Given the description of an element on the screen output the (x, y) to click on. 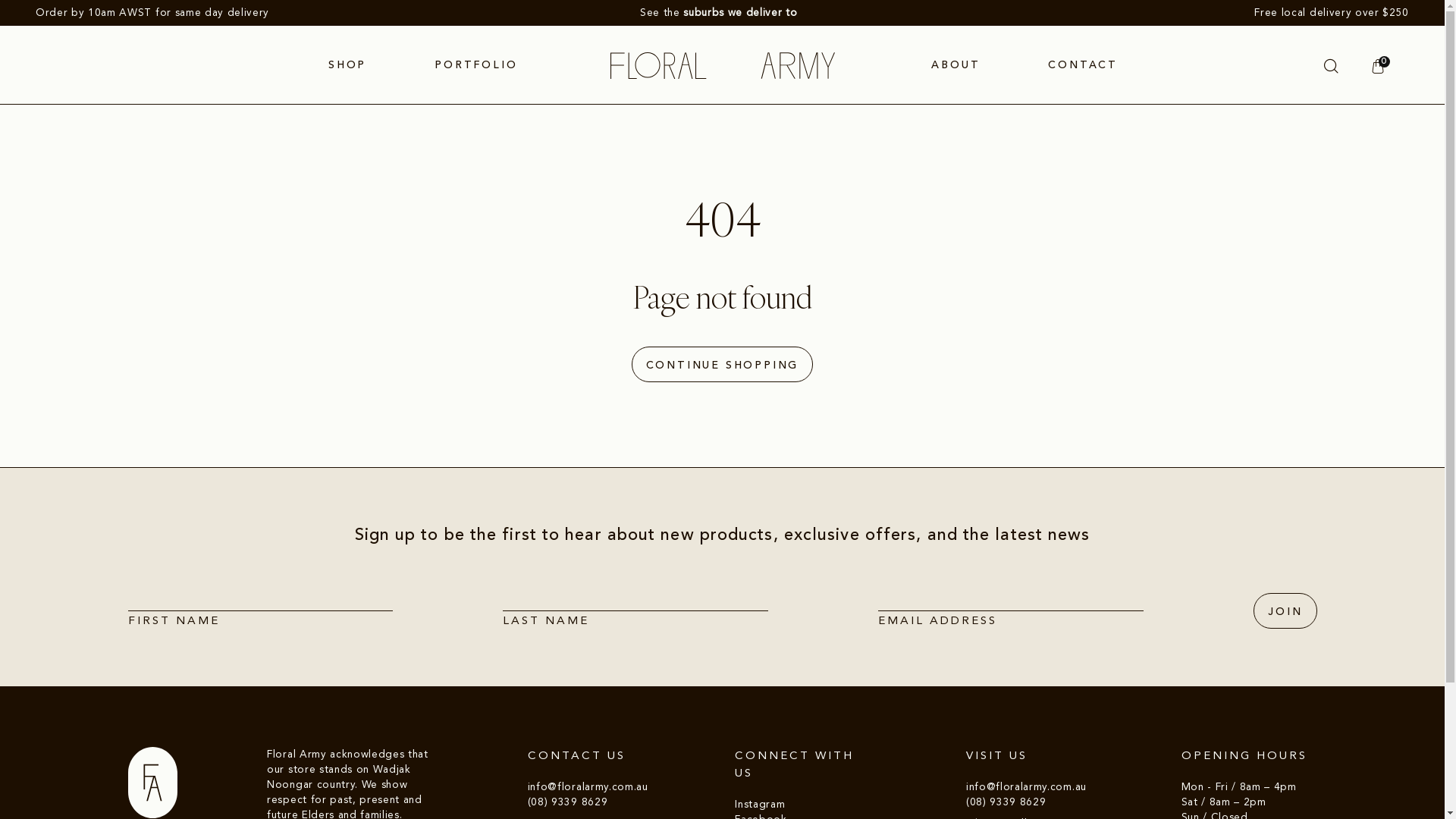
CONTACT Element type: text (1082, 64)
info@floralarmy.com.au Element type: text (587, 786)
Search Element type: hover (1331, 65)
suburbs we deliver to Element type: text (740, 12)
0 Element type: text (1377, 65)
PORTFOLIO Element type: text (475, 64)
(08) 9339 8629 Element type: text (1005, 801)
ABOUT Element type: text (955, 64)
JOIN Element type: text (1284, 610)
SHOP Element type: text (347, 64)
CONTINUE SHOPPING Element type: text (722, 364)
info@floralarmy.com.au Element type: text (1026, 786)
Instagram Element type: text (759, 804)
(08) 9339 8629 Element type: text (567, 801)
